Given the description of an element on the screen output the (x, y) to click on. 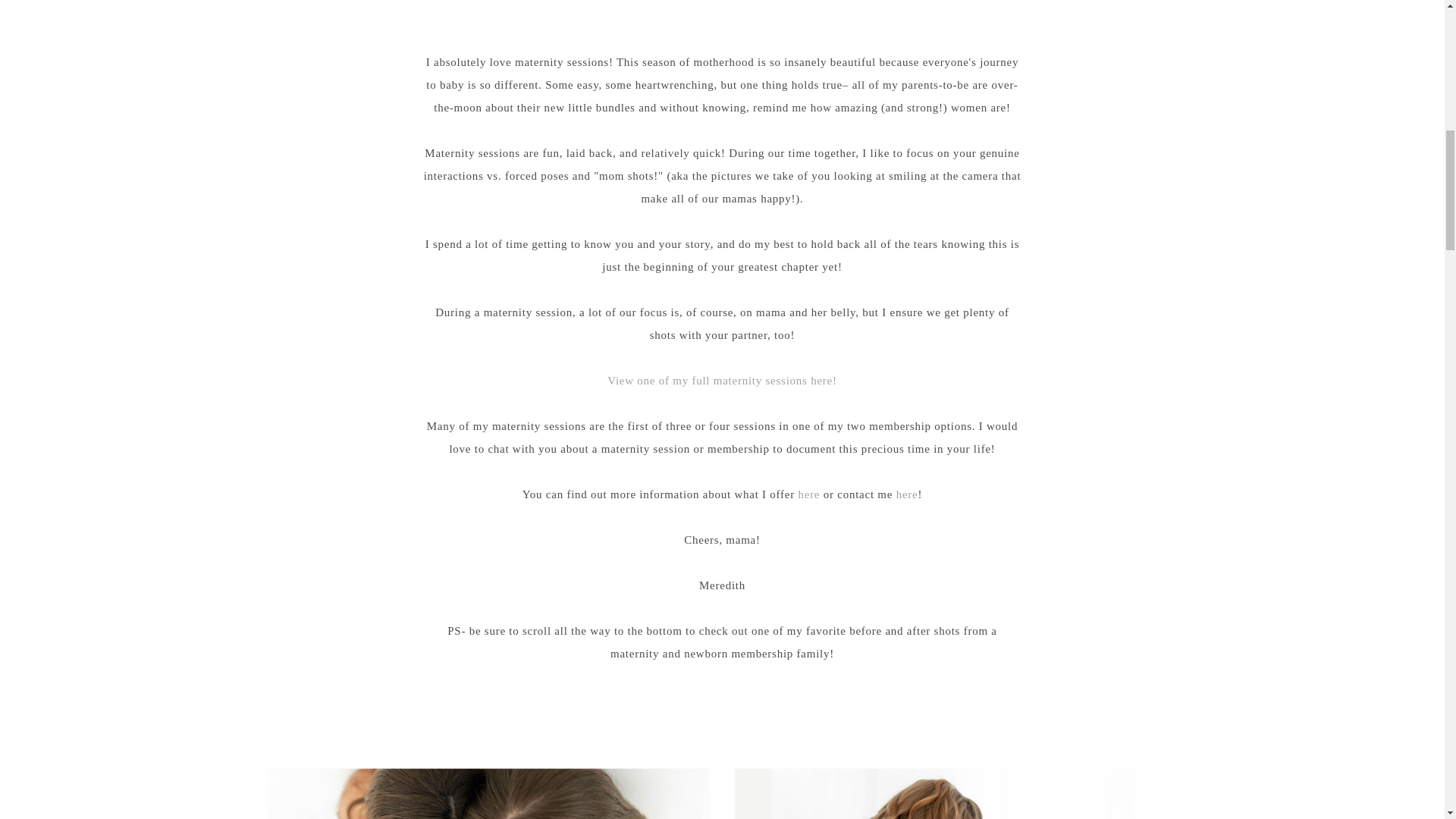
View one of my full maternity sessions here! (721, 380)
here (907, 494)
here (808, 494)
